Given the description of an element on the screen output the (x, y) to click on. 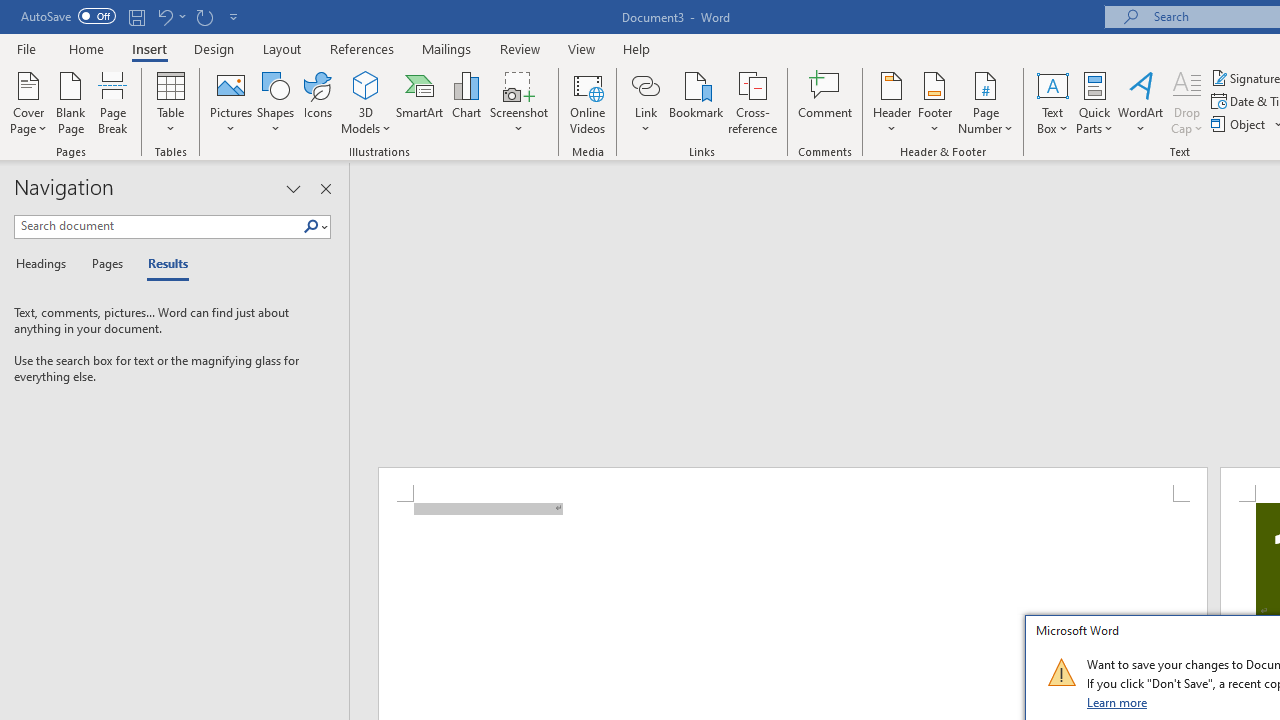
Search document (157, 226)
Undo New Page (164, 15)
Undo New Page (170, 15)
Screenshot (518, 102)
Cross-reference... (752, 102)
Header (891, 102)
Pages (105, 264)
Page Break (113, 102)
3D Models (366, 84)
Comment (825, 102)
